Given the description of an element on the screen output the (x, y) to click on. 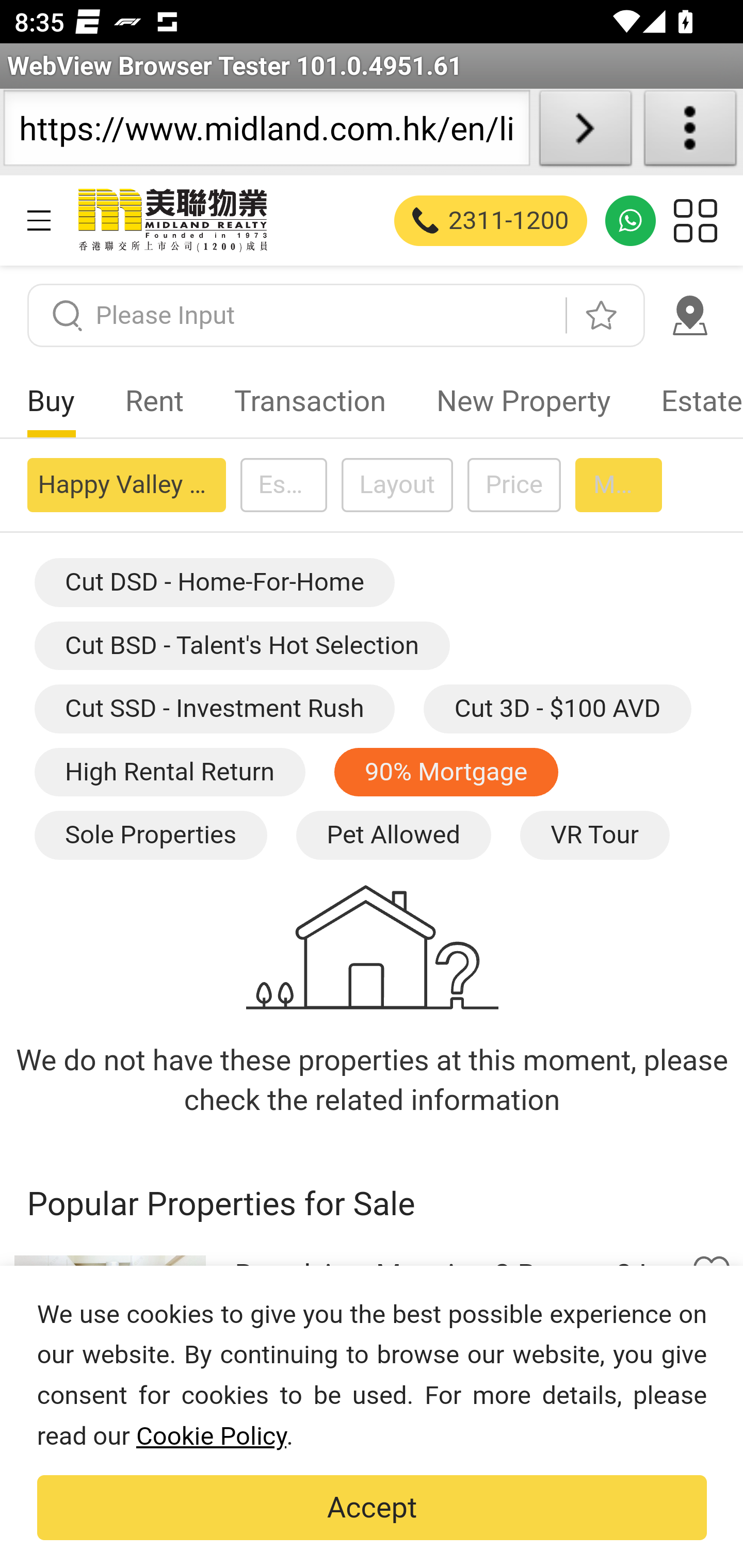
Load URL (585, 132)
About WebView (690, 132)
Midland Realty - Property Agency in Hong Kong (171, 220)
2311-1200 (490, 219)
WhatsApp: 2311-1200 (630, 219)
Map Search (689, 314)
Buy (50, 401)
Rent (154, 401)
Transaction (310, 401)
New Property (523, 401)
Estate (689, 401)
Estates (283, 484)
Layout (396, 484)
Price (513, 484)
More (618, 484)
Cut DSD - Home-For-Home (213, 583)
Cut BSD - Talent's Hot Selection (241, 644)
Cut SSD - Investment Rush (213, 710)
Cut 3D - $100 AVD (556, 710)
High Rental Return (169, 772)
90% Mortgage (445, 772)
Sole Properties (149, 835)
Pet Allowed (392, 835)
VR Tour (593, 835)
Cookie Policy (210, 1435)
Accept (372, 1508)
